Given the description of an element on the screen output the (x, y) to click on. 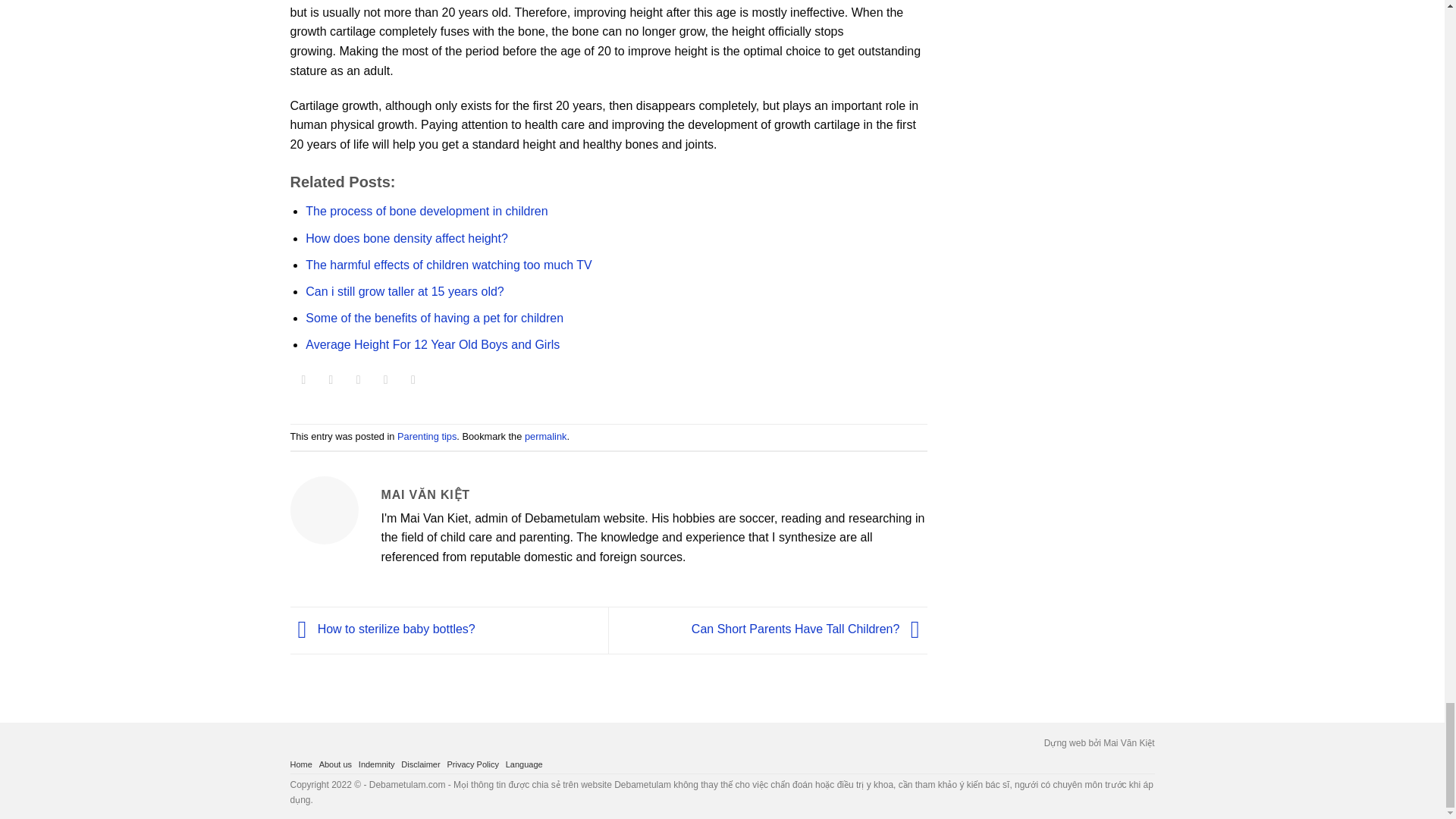
Share on Facebook (303, 383)
Pin on Pinterest (384, 383)
The harmful effects of children watching too much TV (448, 264)
Some of the benefits of having a pet for children (434, 318)
Average Height For 12 Year Old Boys and Girls (432, 344)
Can i still grow taller at 15 years old? (404, 291)
Email to a Friend (358, 383)
Share on LinkedIn (413, 383)
Permalink to Cartilage growth and what you need to know (545, 436)
Share on Twitter (330, 383)
How does bone density affect height? (406, 237)
The process of bone development in children (426, 210)
